Given the description of an element on the screen output the (x, y) to click on. 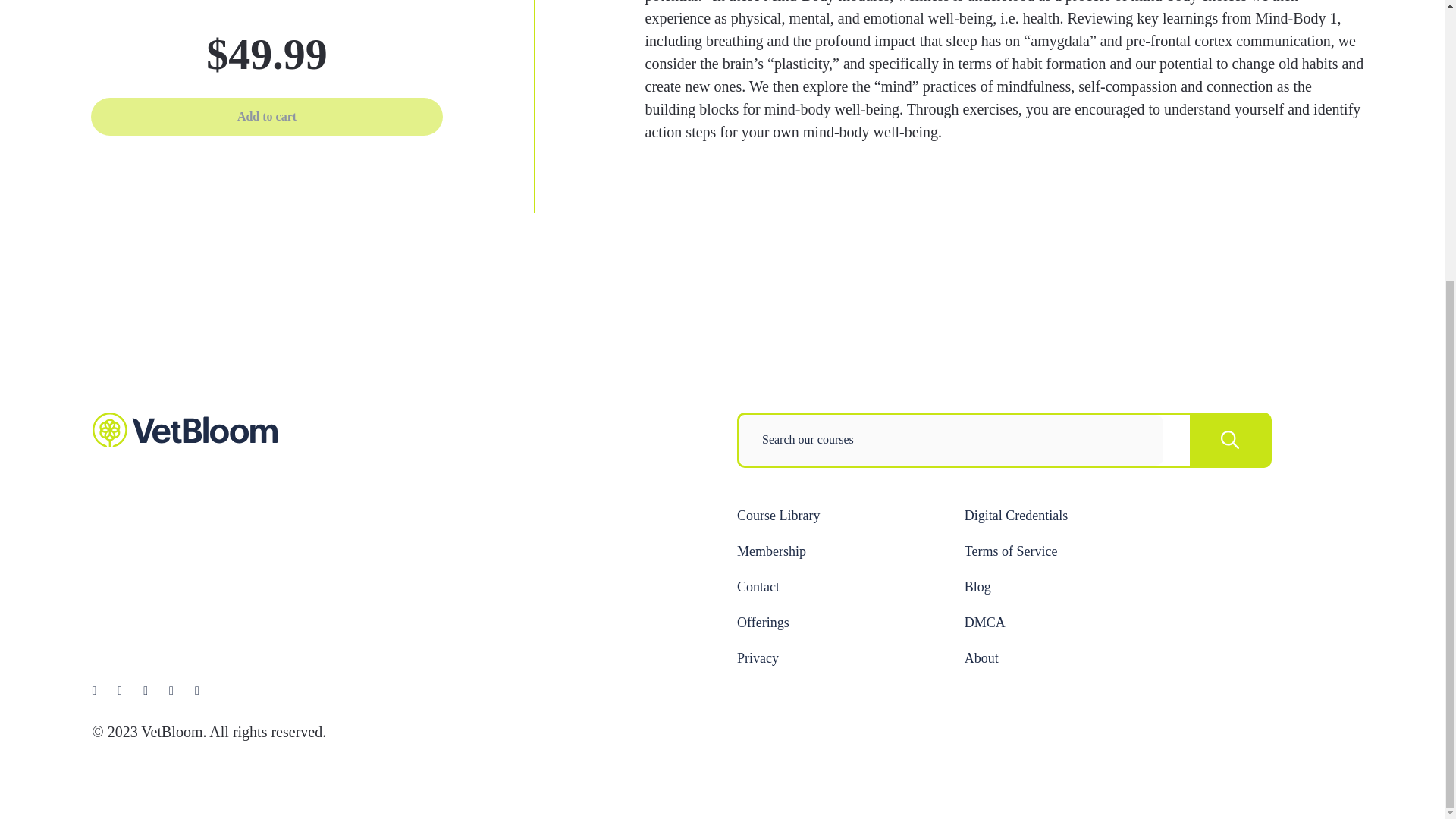
Blog (977, 586)
Contact (757, 586)
Terms of Service (1010, 550)
Digital Credentials (1015, 515)
About (980, 657)
Membership (771, 550)
Privacy (757, 657)
Course Library (777, 515)
Offerings (762, 622)
DMCA (984, 622)
Add to cart (266, 116)
